Given the description of an element on the screen output the (x, y) to click on. 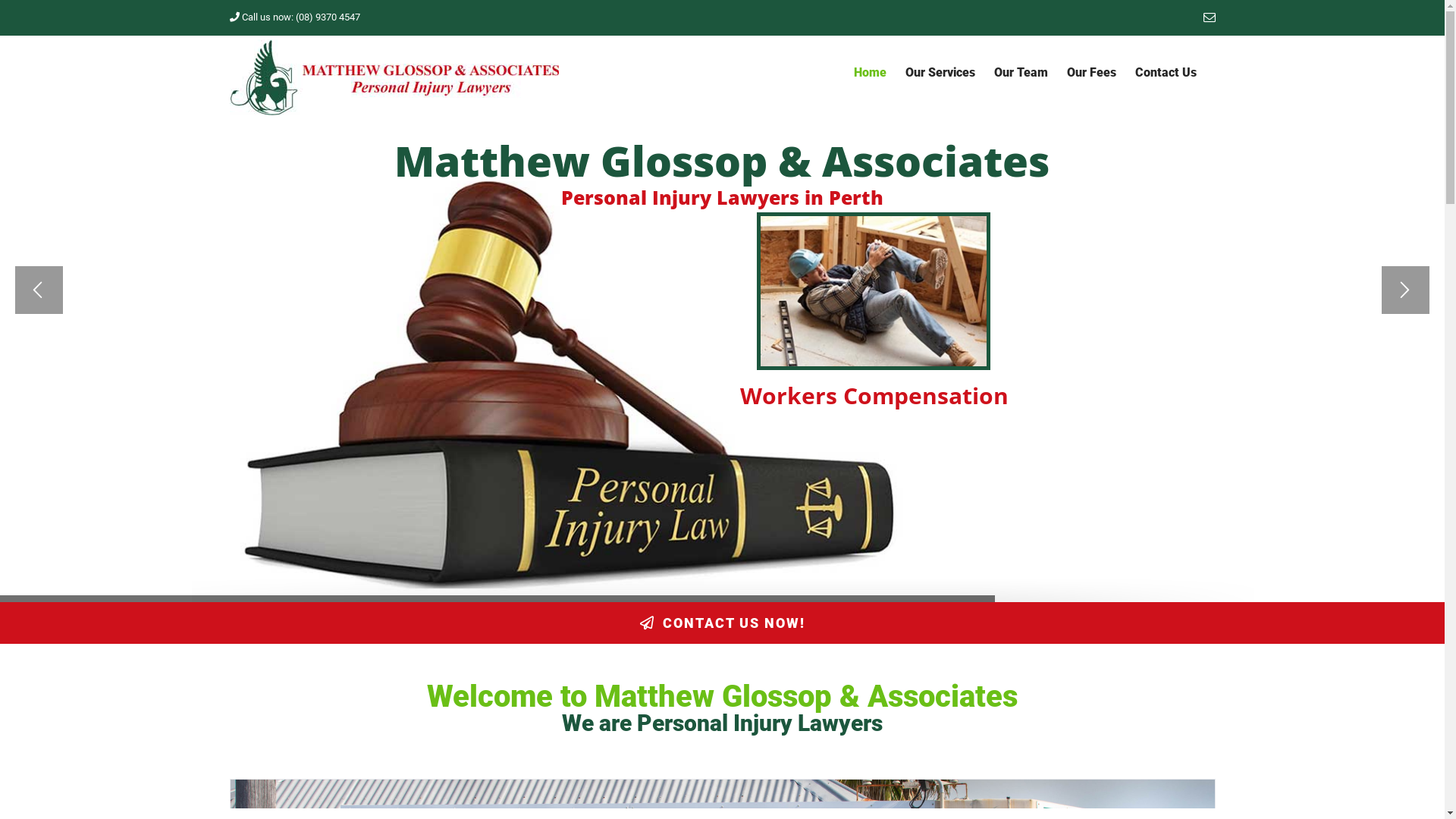
Our Fees Element type: text (1090, 72)
Our Services Element type: text (940, 72)
Email Element type: text (1208, 17)
CONTACT US NOW! Element type: text (722, 622)
Our Team Element type: text (1020, 72)
Home Element type: text (869, 72)
Call us now: (08) 9370 4547 Element type: text (294, 16)
Contact Us Element type: text (1164, 72)
